Given the description of an element on the screen output the (x, y) to click on. 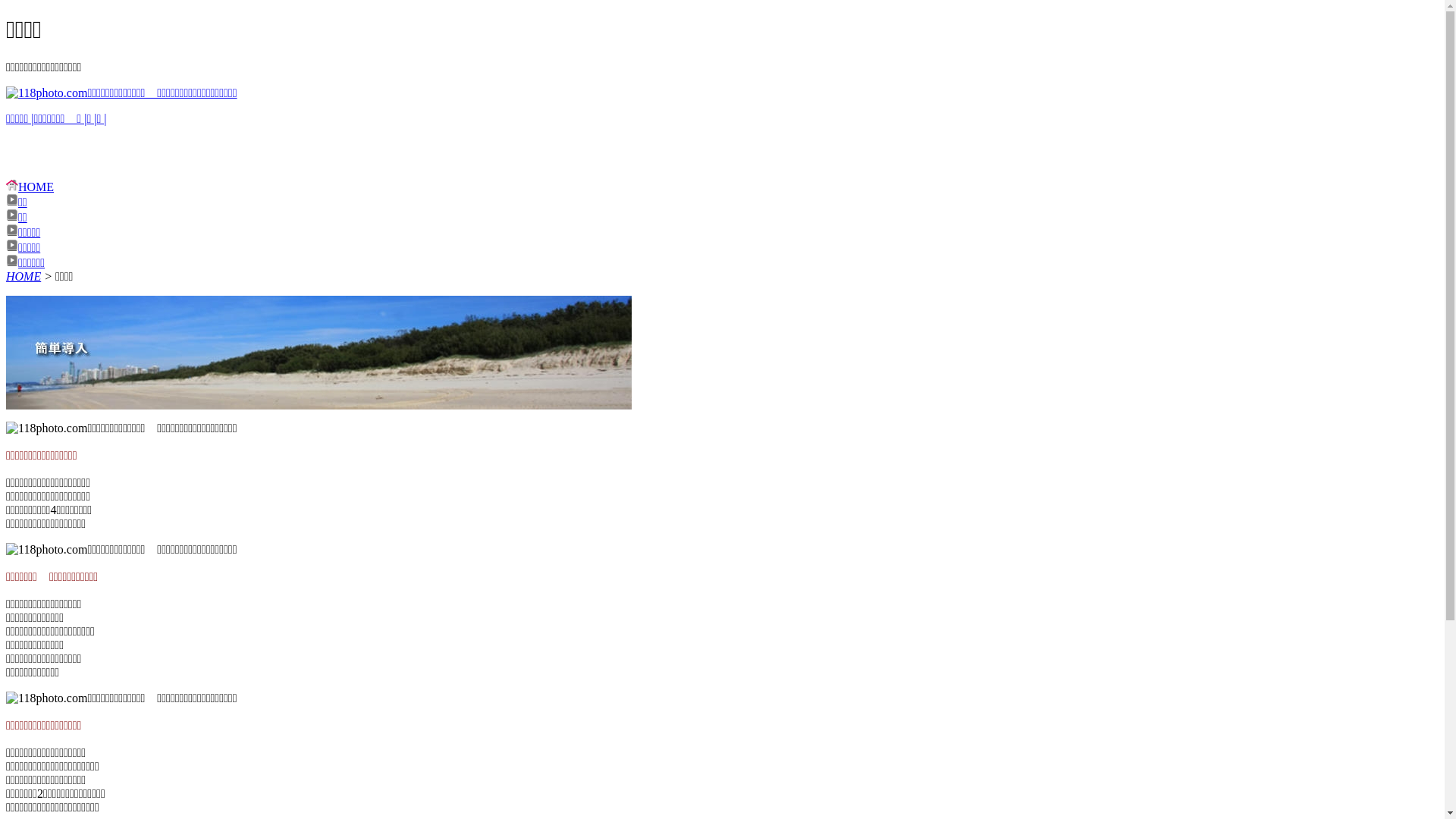
HOME Element type: text (23, 275)
HOME Element type: text (29, 186)
